Given the description of an element on the screen output the (x, y) to click on. 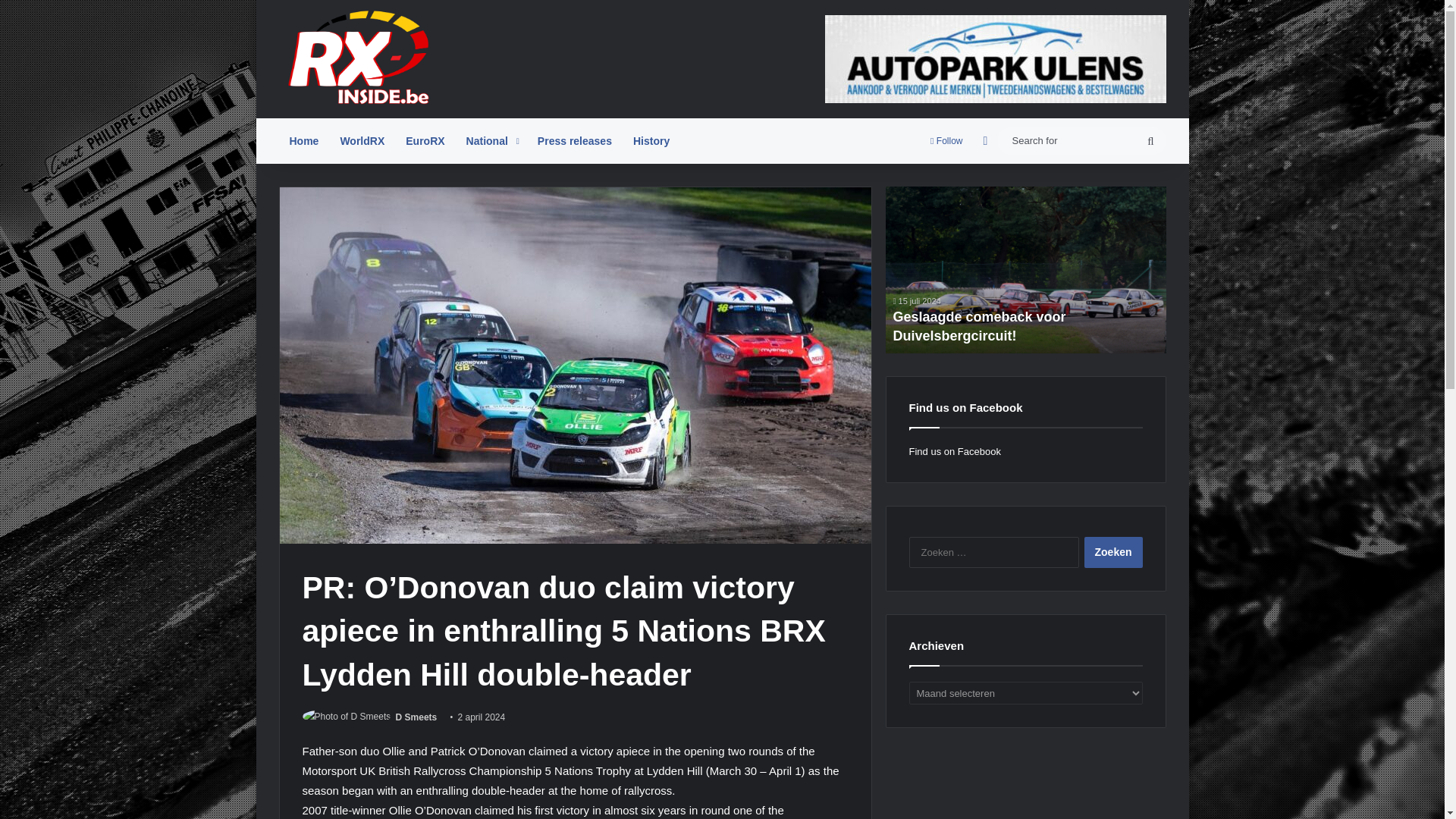
Press releases (575, 140)
D Smeets (417, 716)
History (651, 140)
Geslaagde comeback voor Duivelsbergcircuit! (1025, 269)
Geslaagde comeback voor Duivelsbergcircuit! (979, 326)
RX-inside (362, 56)
Follow (946, 140)
Zoeken (1113, 552)
Zoeken (1113, 552)
EuroRX (424, 140)
